Given the description of an element on the screen output the (x, y) to click on. 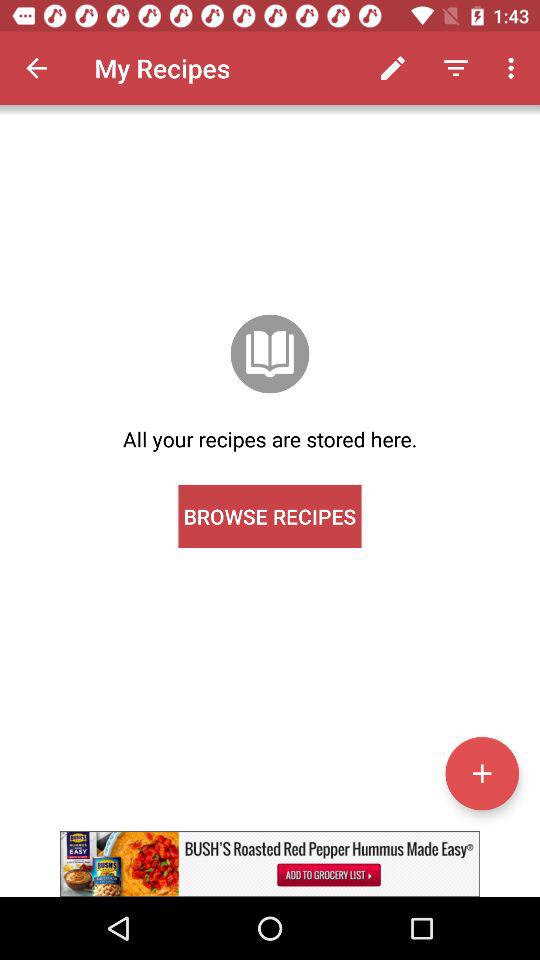
open advertisement (270, 864)
